Given the description of an element on the screen output the (x, y) to click on. 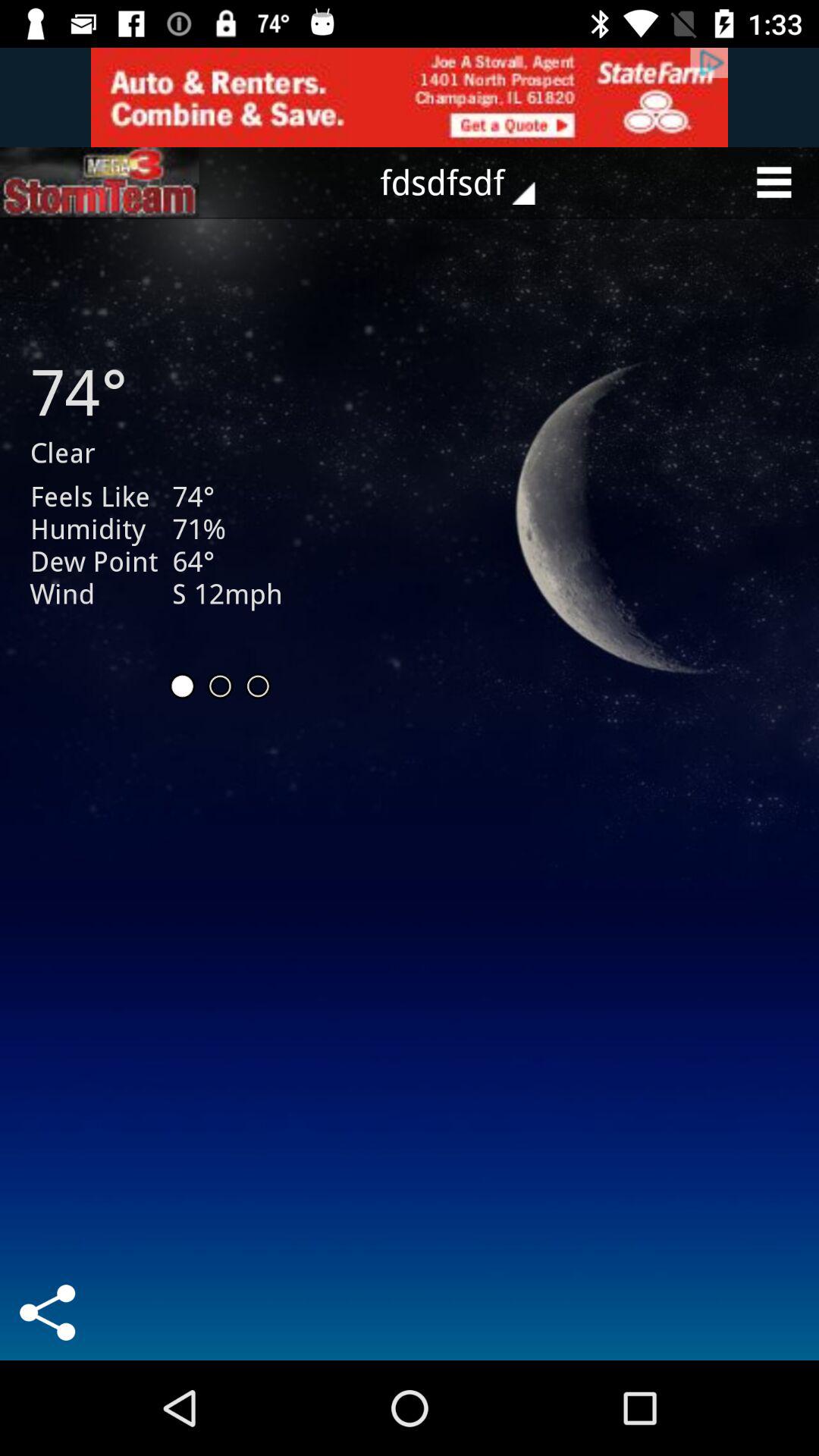
navigate to stormteam site (99, 182)
